Given the description of an element on the screen output the (x, y) to click on. 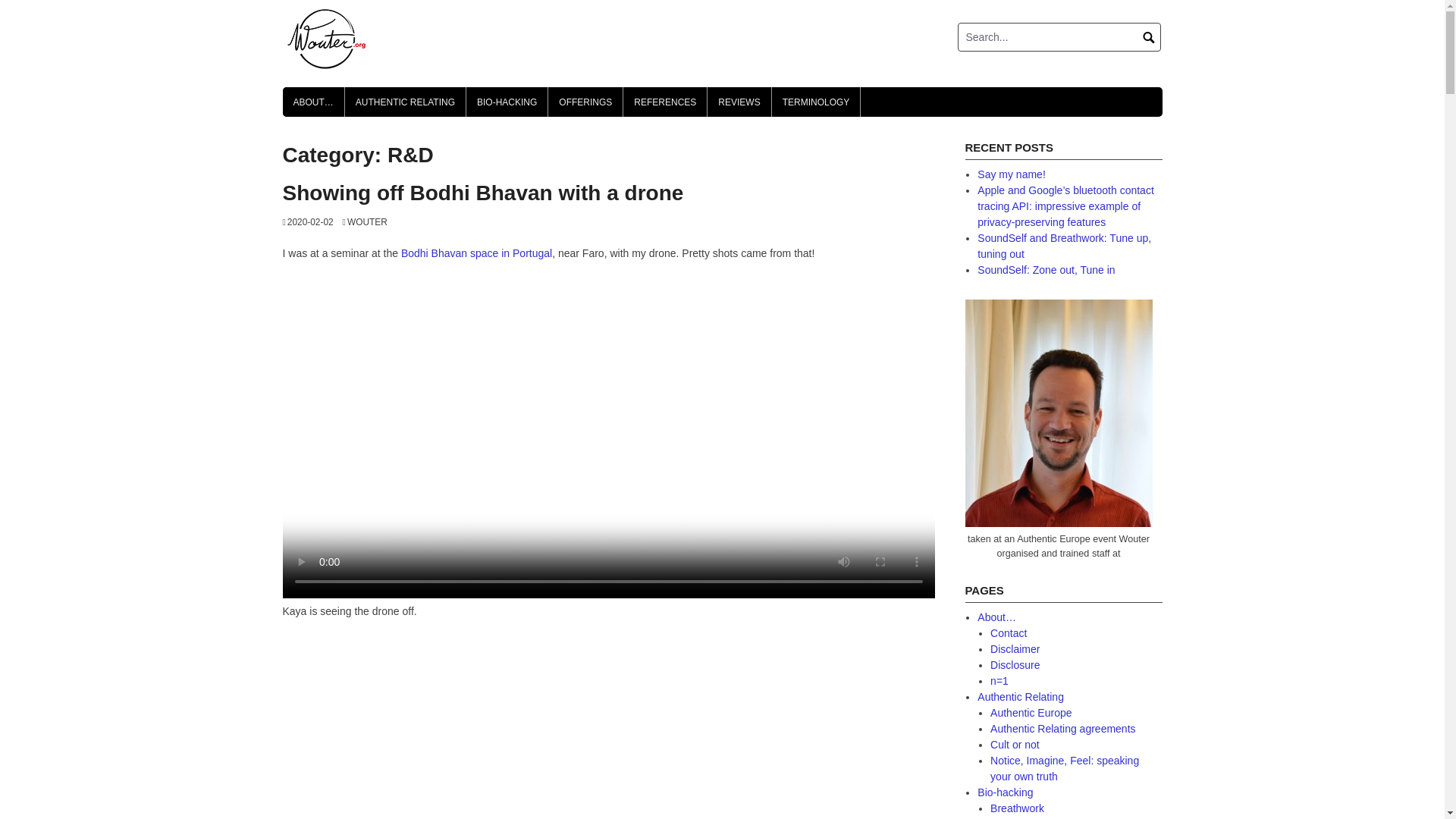
AUTHENTIC RELATING (405, 101)
REFERENCES (664, 101)
Search for: (1058, 36)
BIO-HACKING (506, 101)
OFFERINGS (585, 101)
REVIEWS (738, 101)
